Given the description of an element on the screen output the (x, y) to click on. 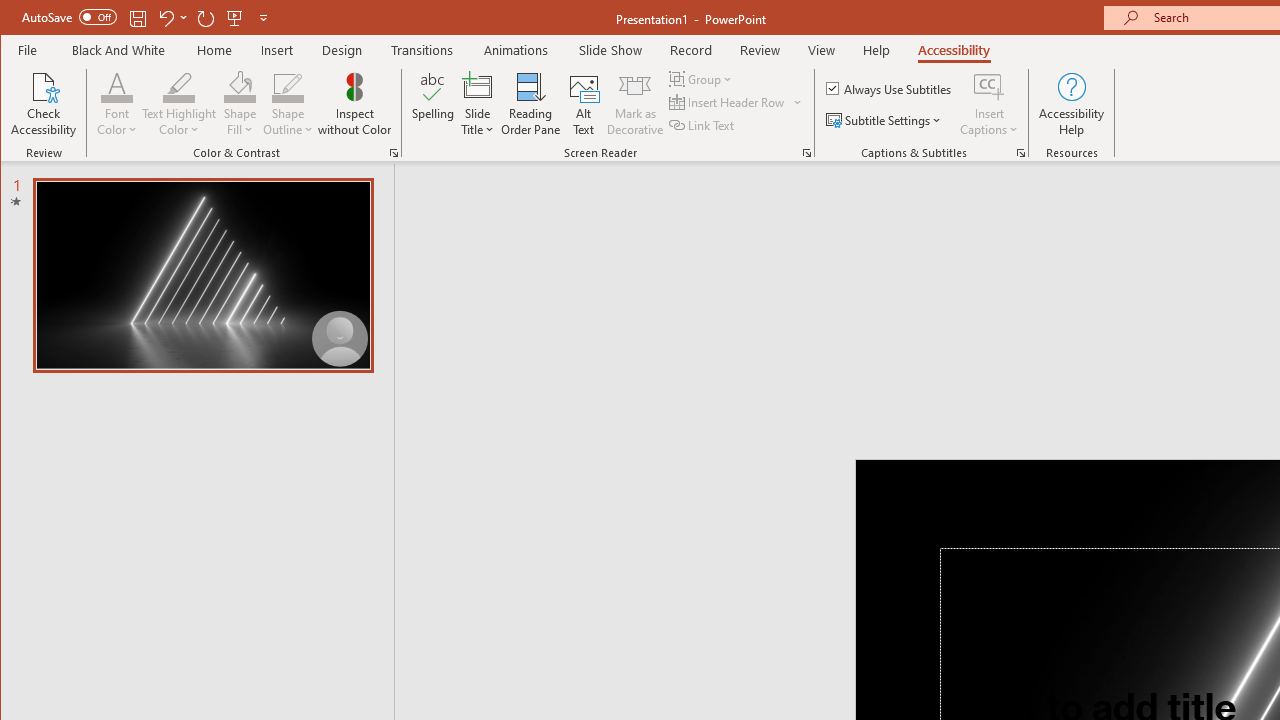
Spelling... (432, 104)
Group (701, 78)
Insert Header Row (735, 101)
Slide Title (477, 86)
Color & Contrast (393, 152)
Slide Title (477, 104)
Alt Text (584, 104)
